Given the description of an element on the screen output the (x, y) to click on. 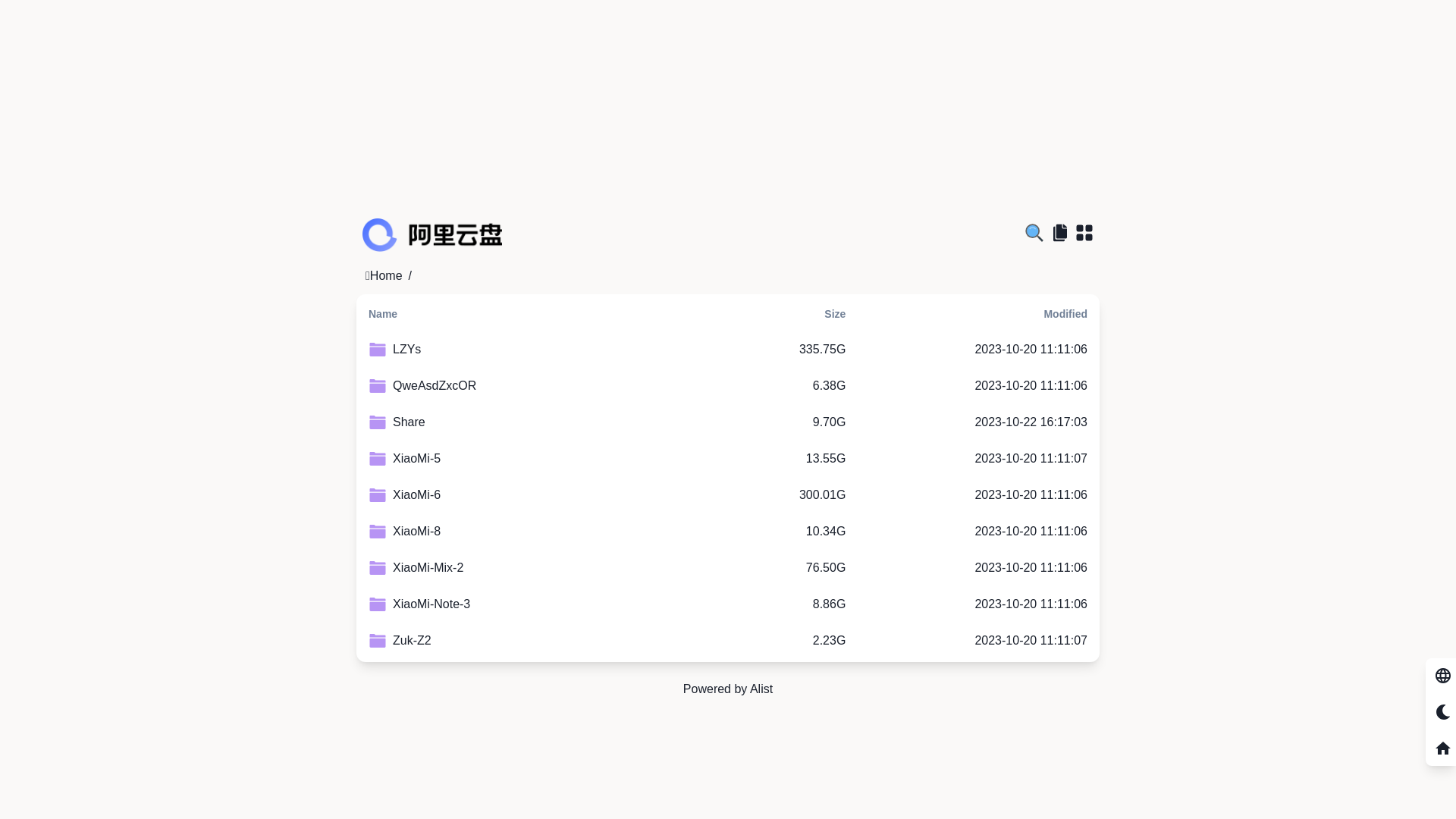
LZYs
335.75G
2023-10-20 11:11:06 Element type: text (727, 349)
XiaoMi-Mix-2
76.50G
2023-10-20 11:11:06 Element type: text (727, 567)
XiaoMi-Note-3
8.86G
2023-10-20 11:11:06 Element type: text (727, 604)
XiaoMi-5
13.55G
2023-10-20 11:11:07 Element type: text (727, 458)
Advertisement Element type: hover (728, 106)
Powered by Alist Element type: text (727, 689)
Share
9.70G
2023-10-22 16:17:03 Element type: text (727, 422)
QweAsdZxcOR
6.38G
2023-10-20 11:11:06 Element type: text (727, 385)
XiaoMi-8
10.34G
2023-10-20 11:11:06 Element type: text (727, 531)
Zuk-Z2
2.23G
2023-10-20 11:11:07 Element type: text (727, 640)
XiaoMi-6
300.01G
2023-10-20 11:11:06 Element type: text (727, 495)
